Given the description of an element on the screen output the (x, y) to click on. 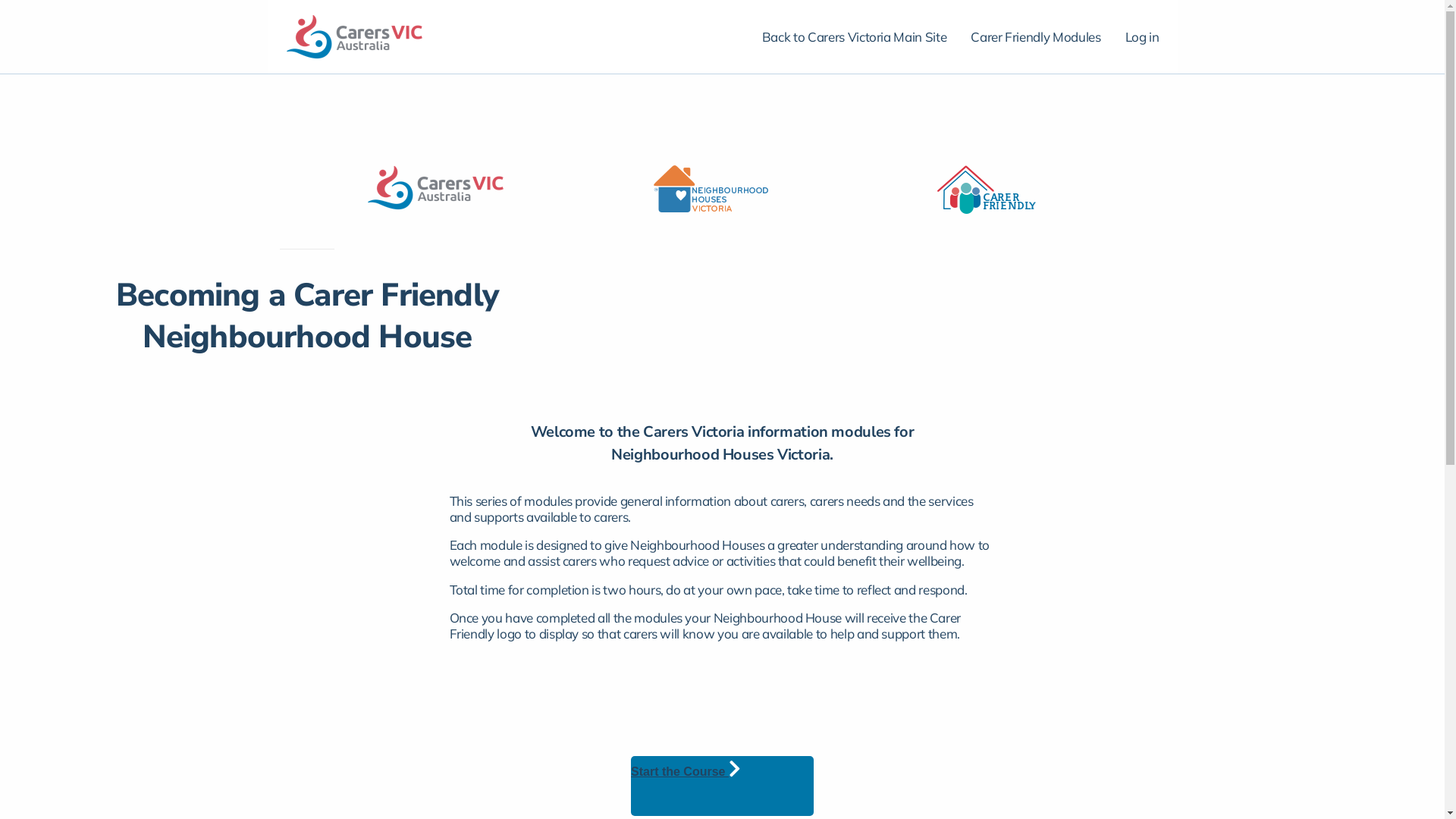
group-46 Element type: hover (986, 189)
Carer Friendly Modules Element type: text (1035, 36)
neighbourhood-house-victoria-logo-cmyk-horizontal Element type: hover (710, 189)
Start the Course Element type: text (692, 766)
Log in Element type: text (1142, 36)
1801-carers-vic-inline-logo-rgb Element type: hover (435, 187)
Back to Carers Victoria Main Site Element type: text (853, 36)
